Given the description of an element on the screen output the (x, y) to click on. 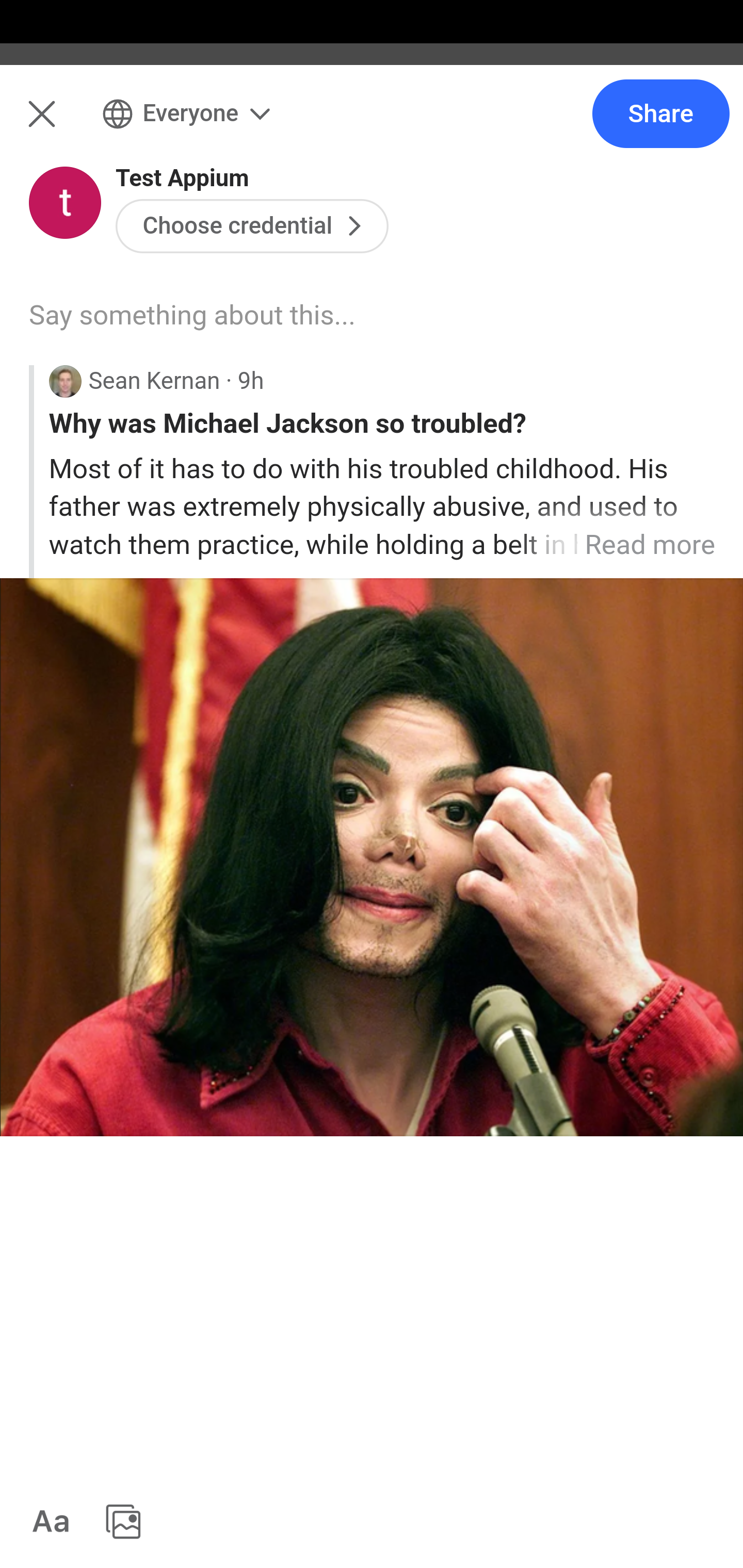
Me Following Search Add (371, 125)
Me (64, 125)
